Given the description of an element on the screen output the (x, y) to click on. 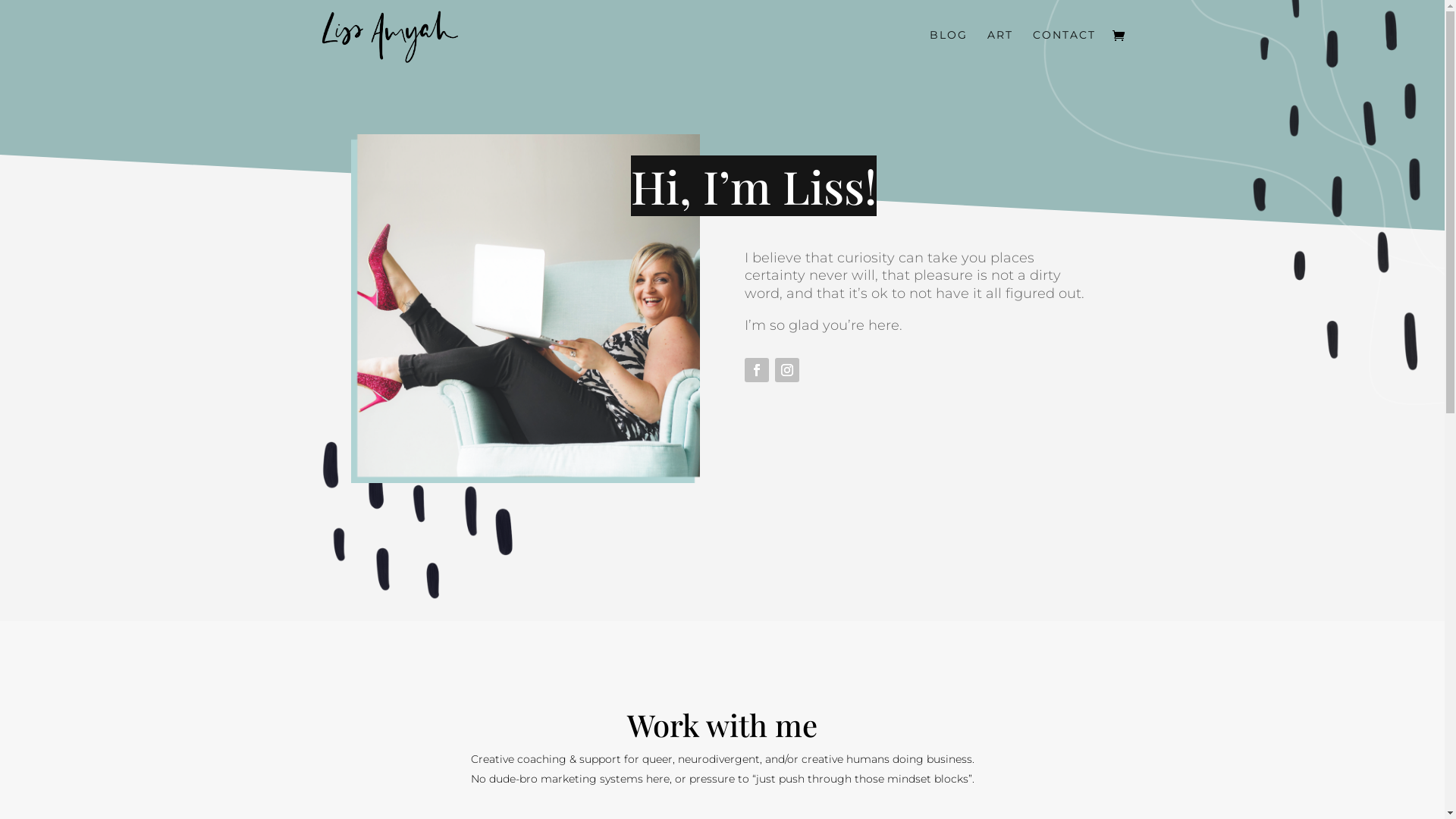
BLOG Element type: text (948, 49)
ART Element type: text (1000, 49)
CONTACT Element type: text (1063, 49)
Follow on Facebook Element type: hover (756, 369)
Untitled_Artwork 3 Element type: hover (425, 476)
Follow on Instagram Element type: hover (787, 369)
Liss Element type: hover (524, 308)
